Given the description of an element on the screen output the (x, y) to click on. 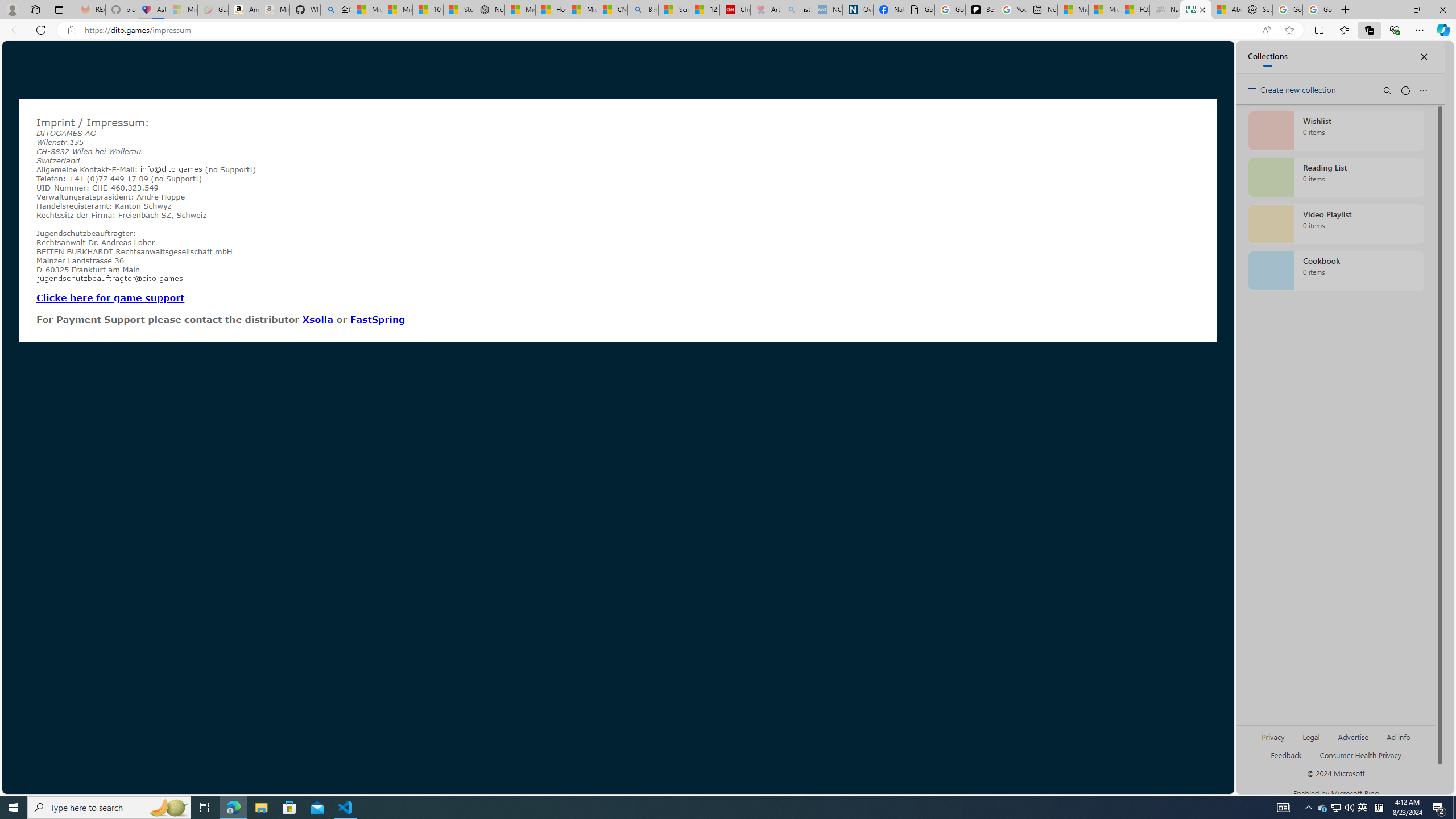
Nordace - Nordace Siena Is Not An Ordinary Backpack (488, 9)
AutomationID: sb_feedback (1286, 754)
FastSpring (377, 319)
Microsoft-Report a Concern to Bing - Sleeping (181, 9)
Stocks - MSN (458, 9)
